Given the description of an element on the screen output the (x, y) to click on. 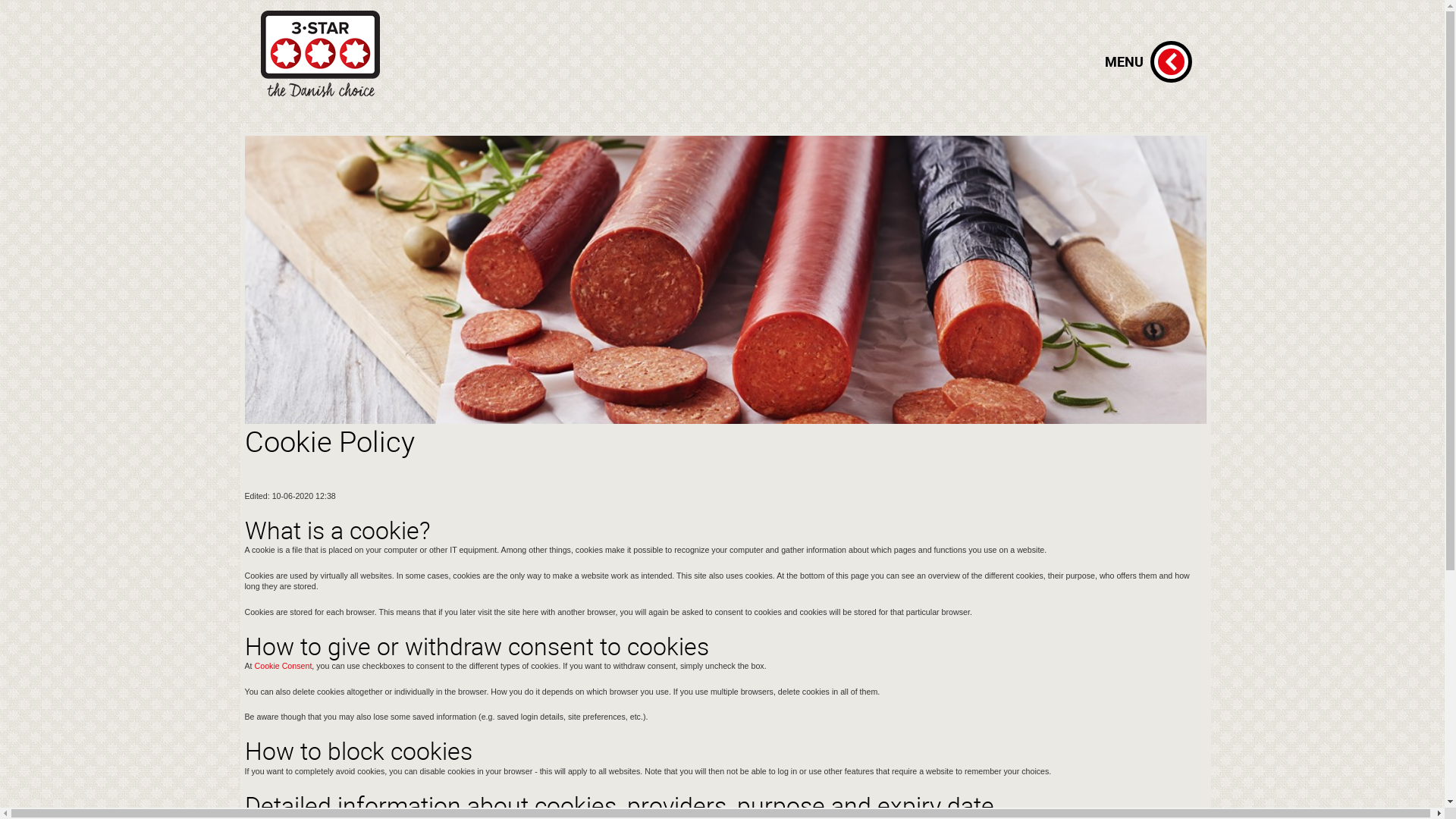
MENU Element type: text (1170, 61)
Cookie Consent Element type: text (283, 665)
